Given the description of an element on the screen output the (x, y) to click on. 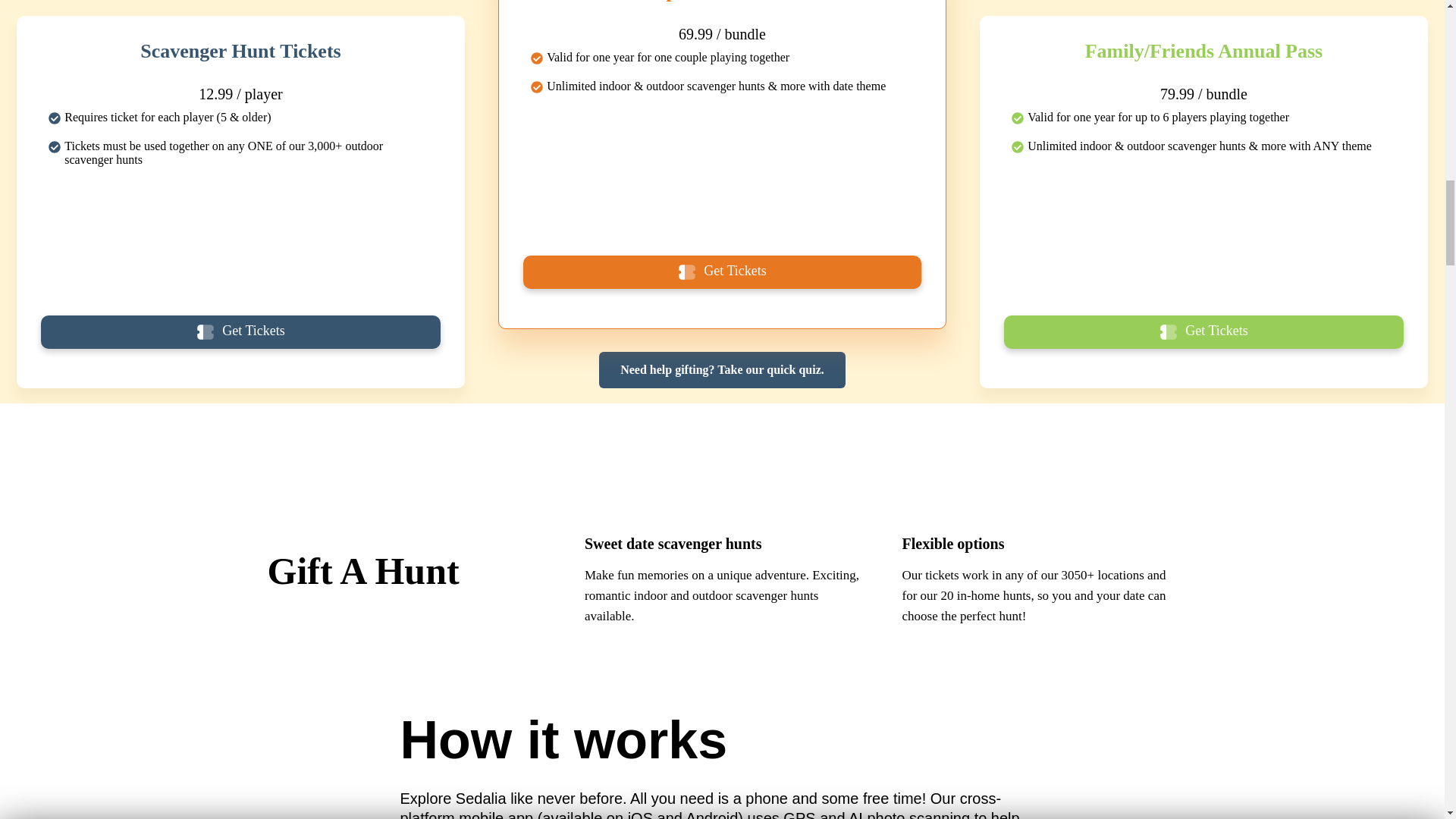
Need help gifting? Take our quick quiz. (721, 370)
